Given the description of an element on the screen output the (x, y) to click on. 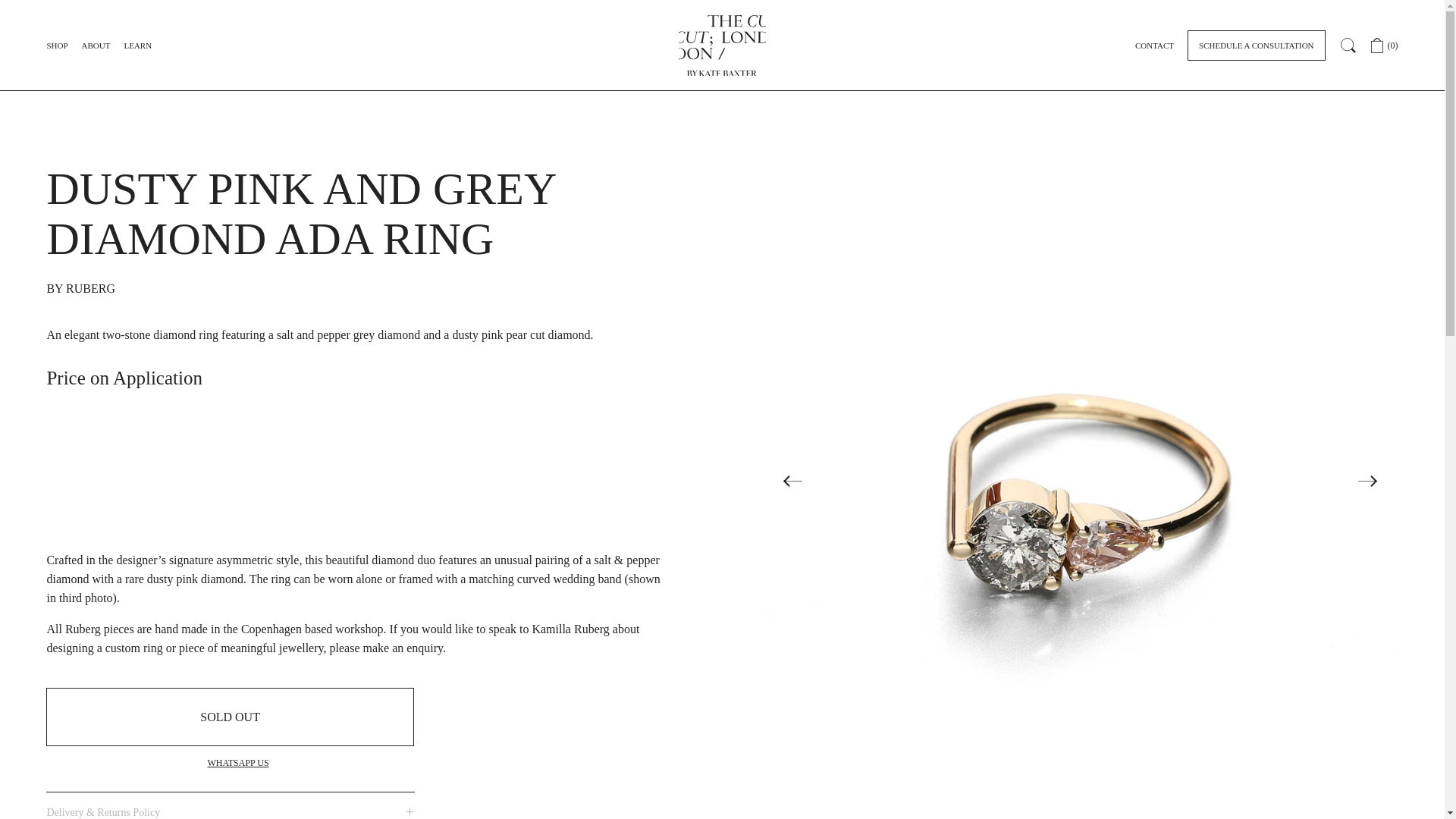
LEARN (137, 45)
CONTACT (1154, 45)
Contact (1154, 45)
SHOP (56, 45)
The Cut London (721, 37)
Shop (56, 45)
SCHEDULE A CONSULTATION (1256, 45)
LEARN (137, 45)
About (95, 45)
ABOUT (95, 45)
Schedule a Consultation (1256, 45)
Your Bag (1384, 45)
Search (1347, 45)
